Given the description of an element on the screen output the (x, y) to click on. 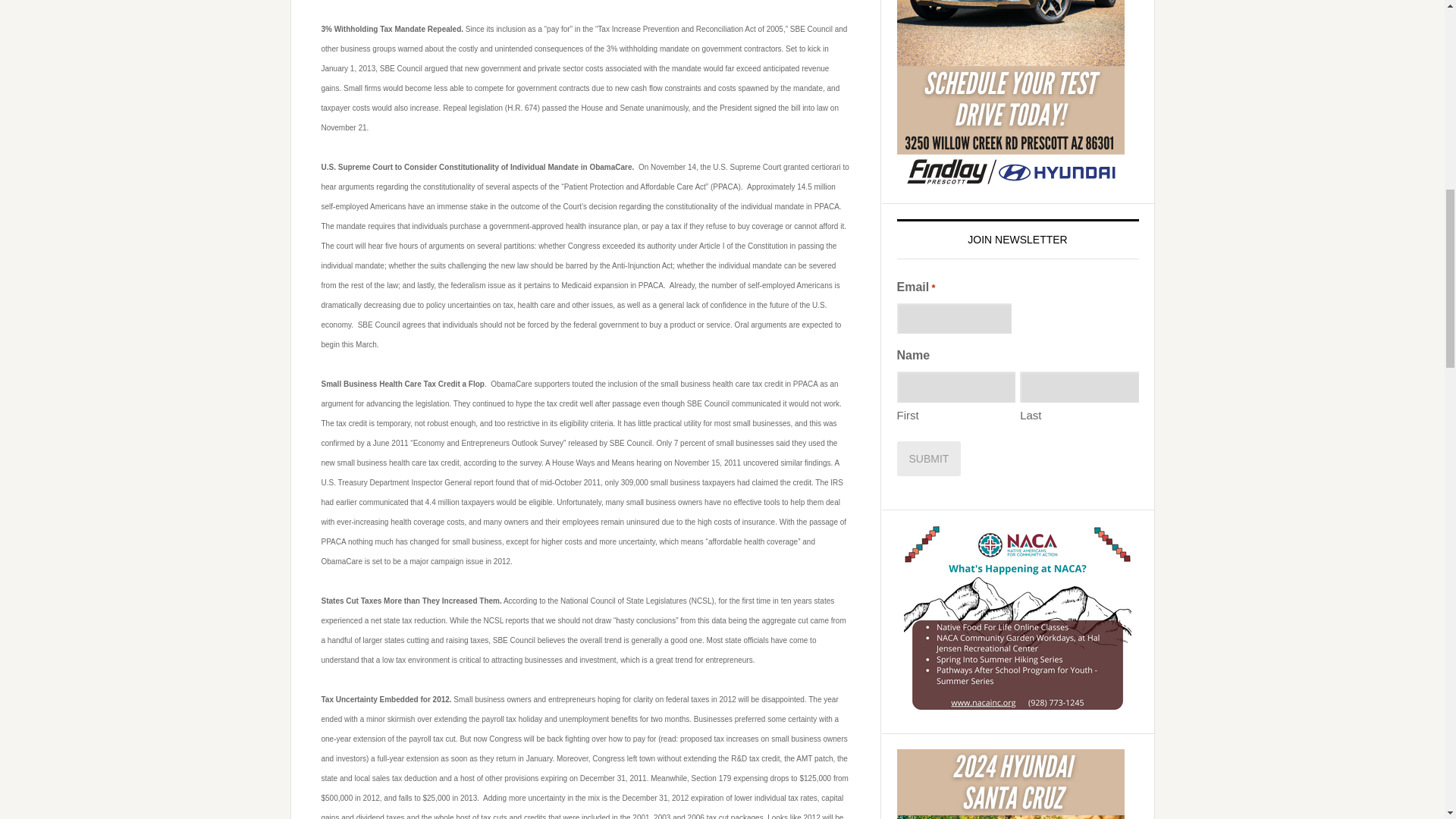
Submit (928, 458)
